Given the description of an element on the screen output the (x, y) to click on. 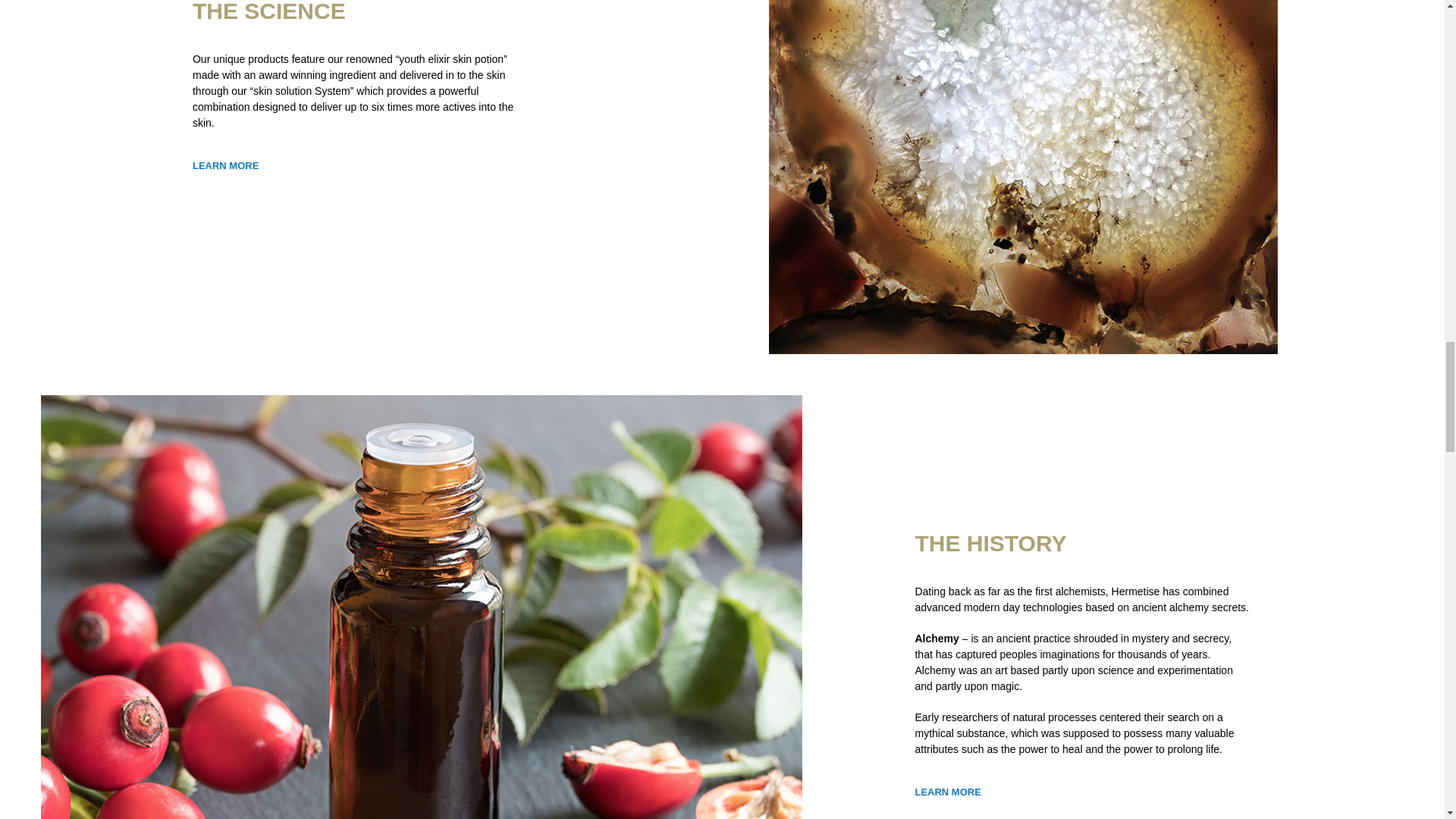
LEARN MORE (946, 791)
LEARN MORE (225, 165)
